Given the description of an element on the screen output the (x, y) to click on. 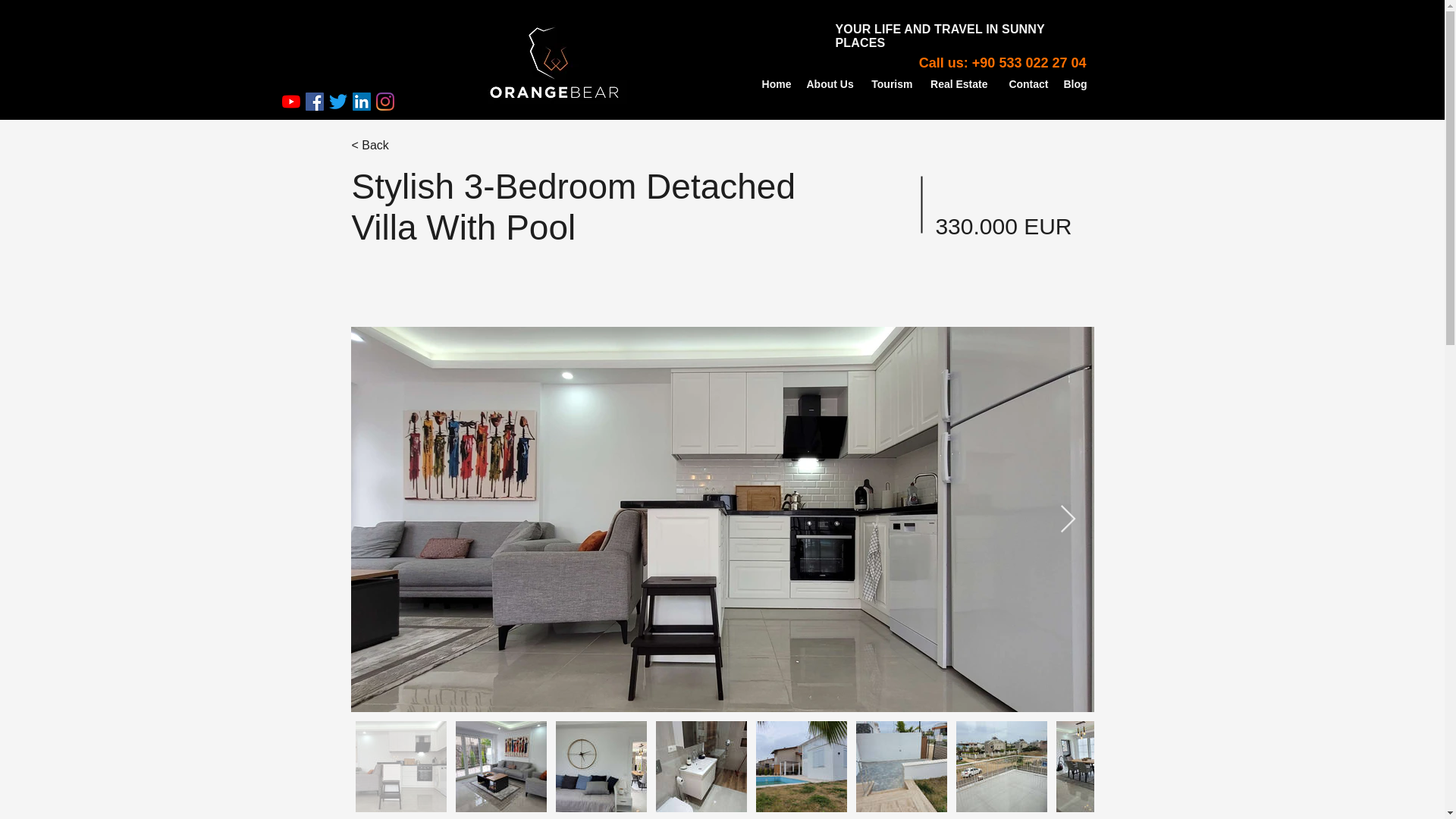
Contact (1024, 84)
Tourism (890, 84)
About Us (830, 84)
Home (775, 84)
Real Estate (957, 84)
Blog (1074, 84)
